Given the description of an element on the screen output the (x, y) to click on. 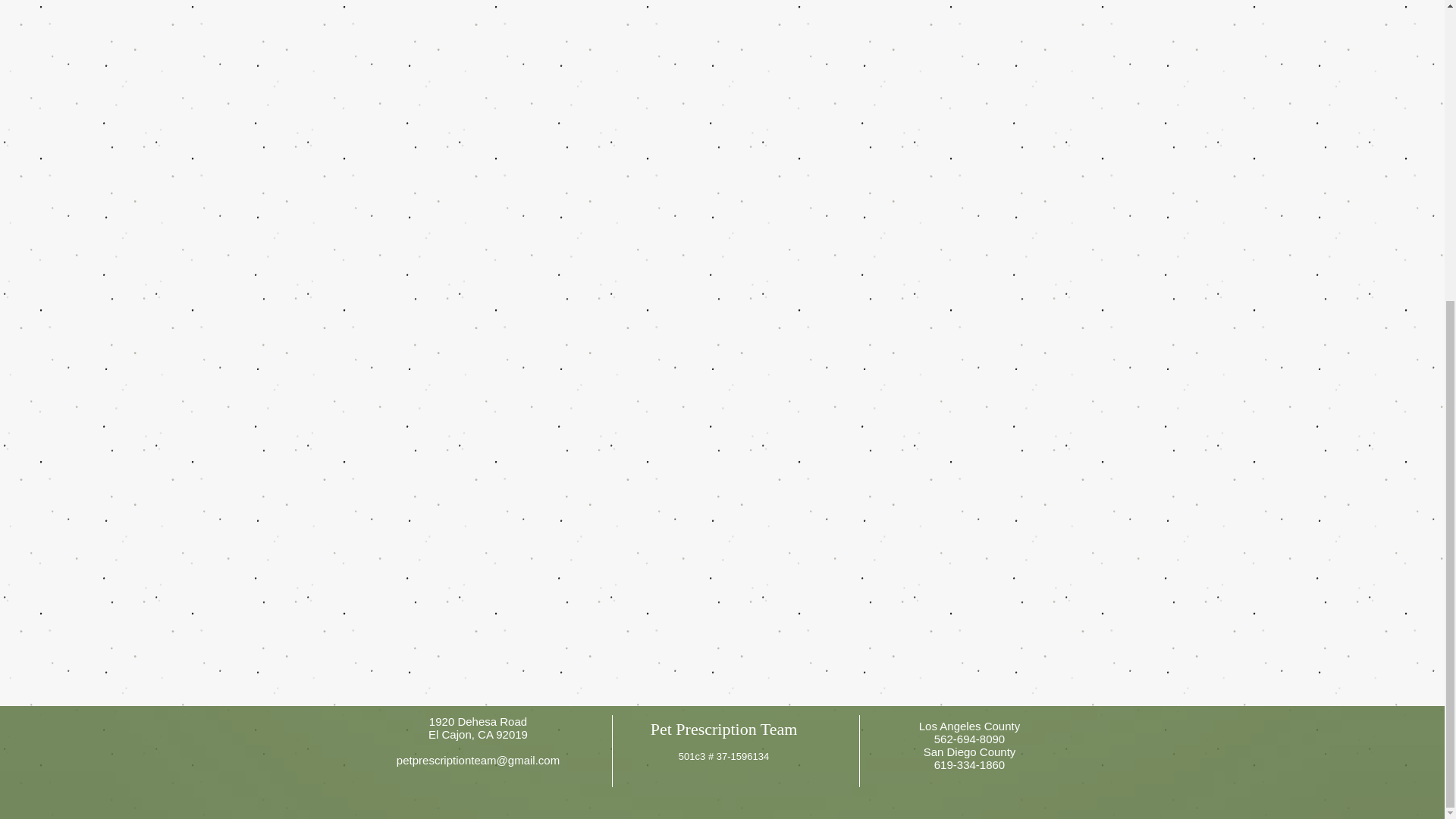
Pet Prescription Team (723, 728)
